Given the description of an element on the screen output the (x, y) to click on. 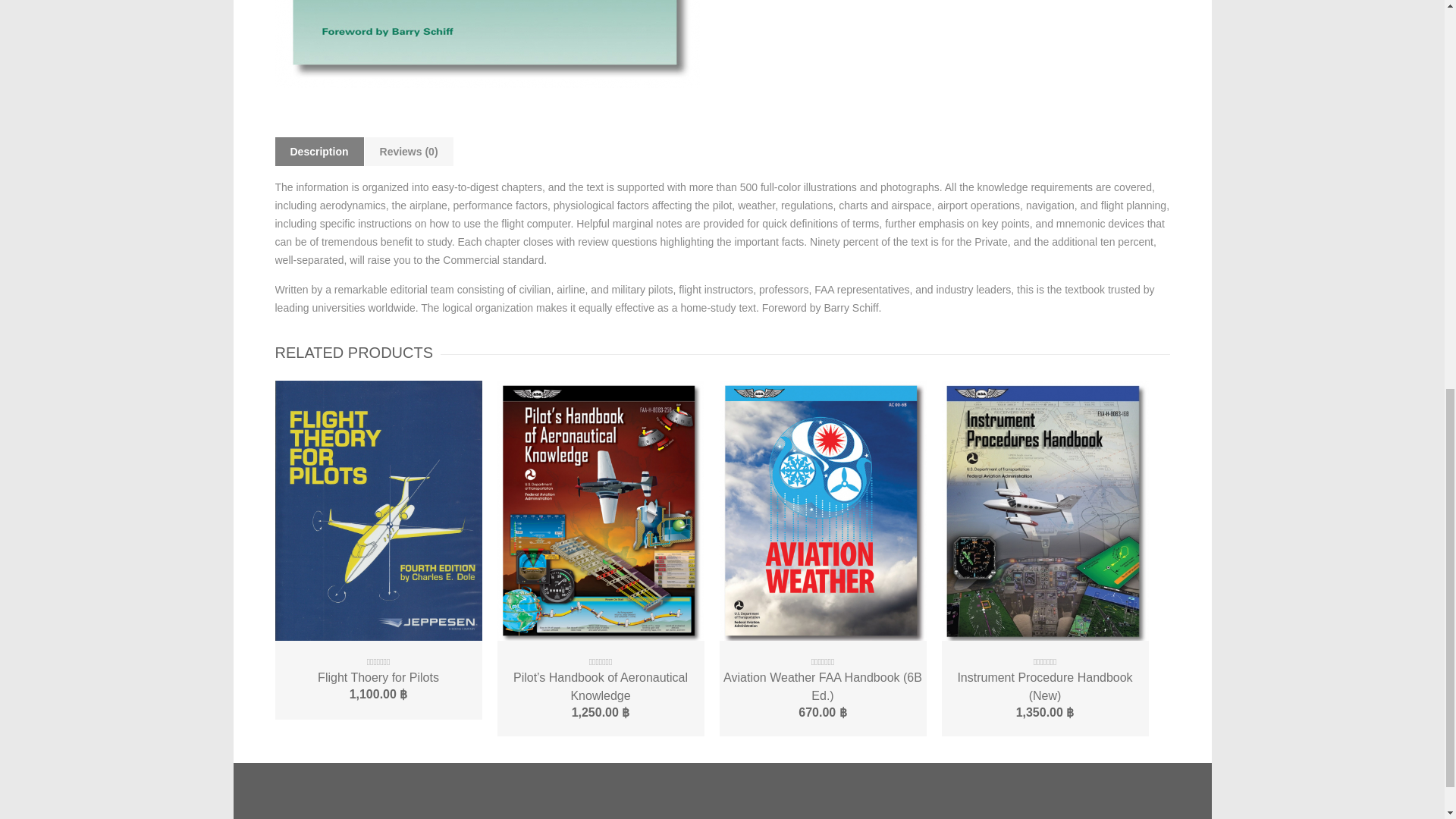
Description (319, 152)
